Given the description of an element on the screen output the (x, y) to click on. 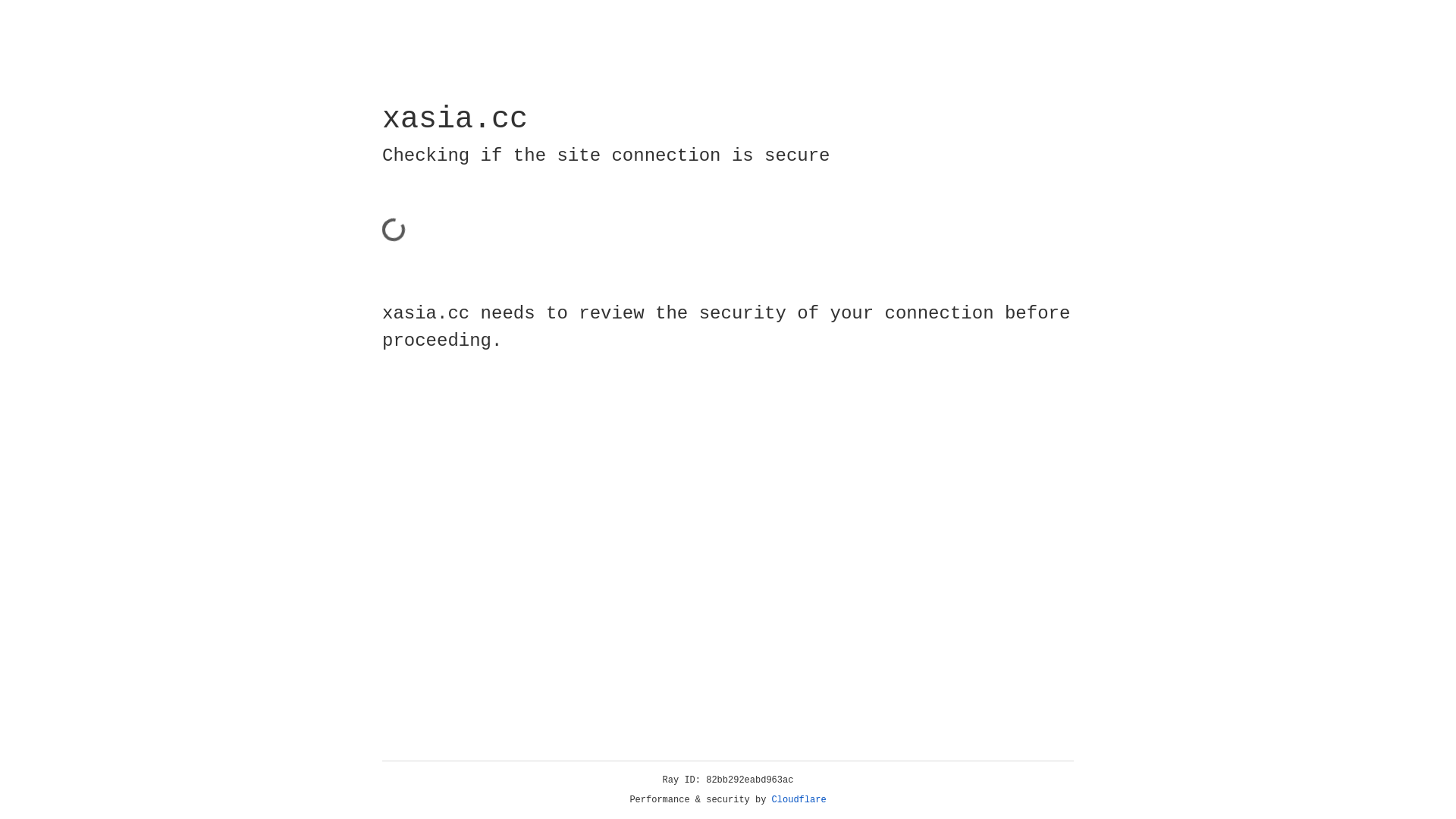
Cloudflare Element type: text (798, 799)
